Given the description of an element on the screen output the (x, y) to click on. 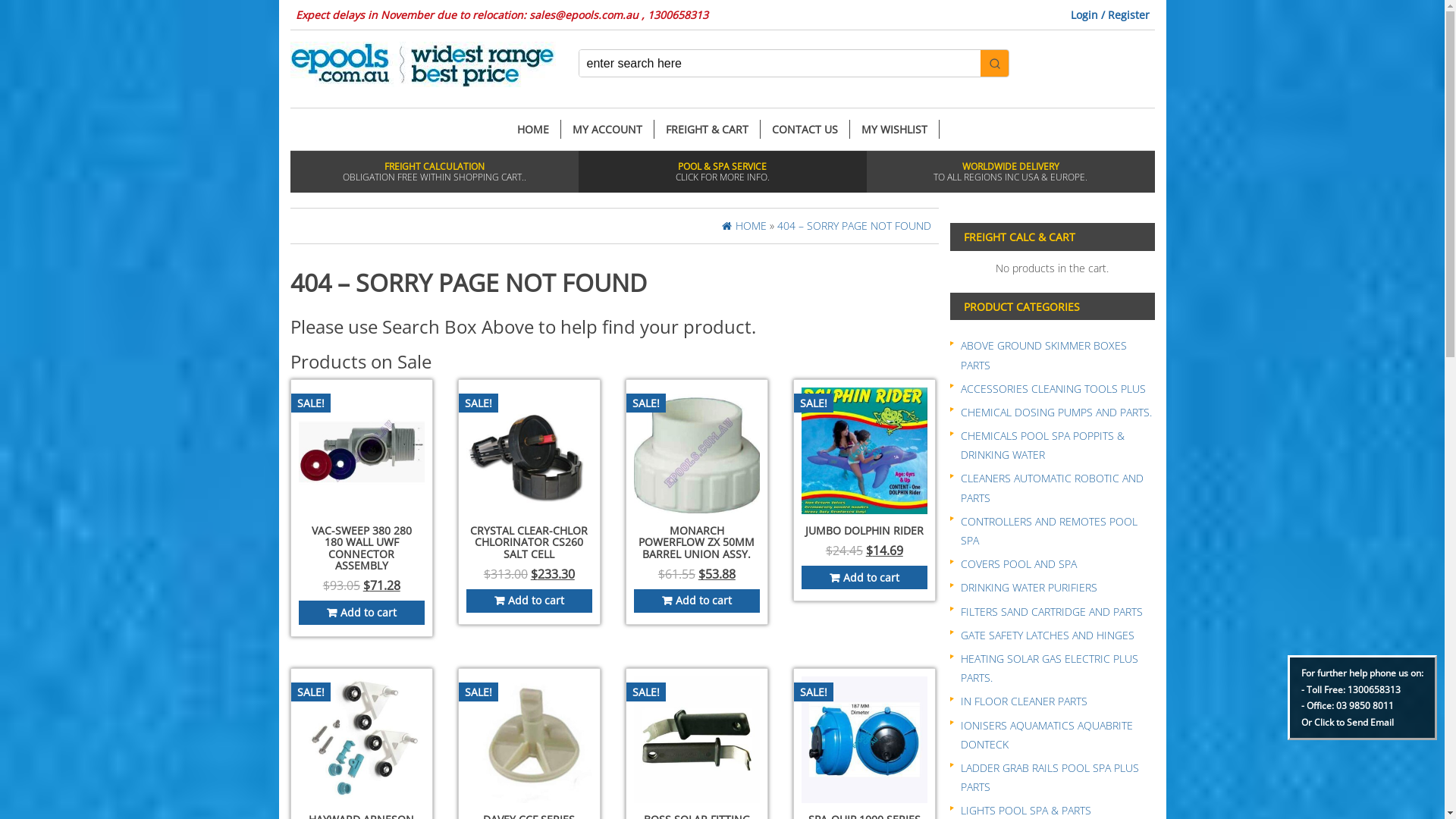
Add to cart Element type: text (696, 600)
DRINKING WATER PURIFIERS Element type: text (1028, 587)
1300658313 Element type: text (1373, 689)
03 9850 8011 Element type: text (1364, 705)
IN FLOOR CLEANER PARTS Element type: text (1023, 700)
CHEMICAL DOSING PUMPS AND PARTS. Element type: text (1055, 411)
MY ACCOUNT Element type: text (607, 128)
GATE SAFETY LATCHES AND HINGES Element type: text (1046, 634)
Login / Register Element type: text (1109, 14)
POOL & SPA SERVICE Element type: text (721, 166)
COVERS POOL AND SPA Element type: text (1018, 563)
Add to cart Element type: text (361, 612)
WORLDWIDE DELIVERY Element type: text (1009, 166)
FILTERS SAND CARTRIDGE AND PARTS Element type: text (1051, 611)
HOME Element type: text (743, 225)
Click to Send Email Element type: text (1353, 721)
Add to cart Element type: text (528, 600)
CONTROLLERS AND REMOTES POOL SPA Element type: text (1048, 530)
Add to cart Element type: text (863, 577)
Epools Pool Shop Element type: hover (422, 64)
CLEANERS AUTOMATIC ROBOTIC AND PARTS Element type: text (1051, 487)
CHEMICALS POOL SPA POPPITS & DRINKING WATER Element type: text (1041, 444)
SALE!
JUMBO DOLPHIN RIDER
$24.45 $14.69 Element type: text (863, 485)
LIGHTS POOL SPA & PARTS Element type: text (1025, 810)
HOME Element type: text (532, 128)
ABOVE GROUND SKIMMER BOXES PARTS Element type: text (1043, 354)
FREIGHT & CART Element type: text (706, 128)
LADDER GRAB RAILS POOL SPA PLUS PARTS Element type: text (1049, 776)
ACCESSORIES CLEANING TOOLS PLUS Element type: text (1052, 388)
FREIGHT CALCULATION Element type: text (433, 166)
HEATING SOLAR GAS ELECTRIC PLUS PARTS. Element type: text (1048, 667)
IONISERS AQUAMATICS AQUABRITE DONTECK Element type: text (1046, 733)
MY WISHLIST Element type: text (893, 128)
CONTACT US Element type: text (804, 128)
